Given the description of an element on the screen output the (x, y) to click on. 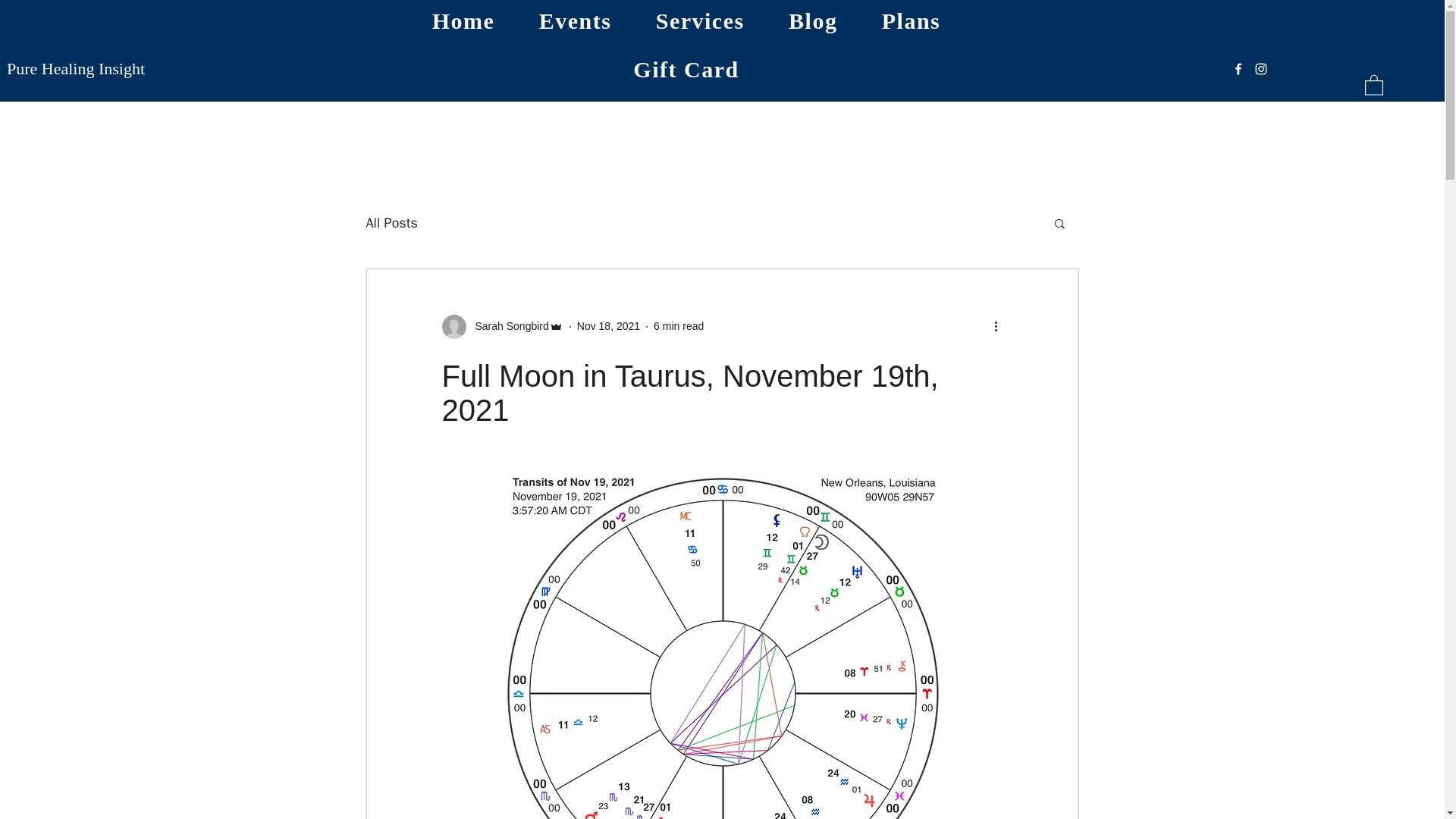
Home (462, 21)
Sarah Songbird (501, 326)
Blog (813, 21)
6 min read (678, 326)
Plans (911, 21)
Sarah Songbird (506, 326)
Gift Card (685, 69)
Nov 18, 2021 (608, 326)
Services (699, 21)
Pure Healing Insight (75, 67)
Log In (1100, 59)
Events (574, 21)
All Posts (390, 222)
